Given the description of an element on the screen output the (x, y) to click on. 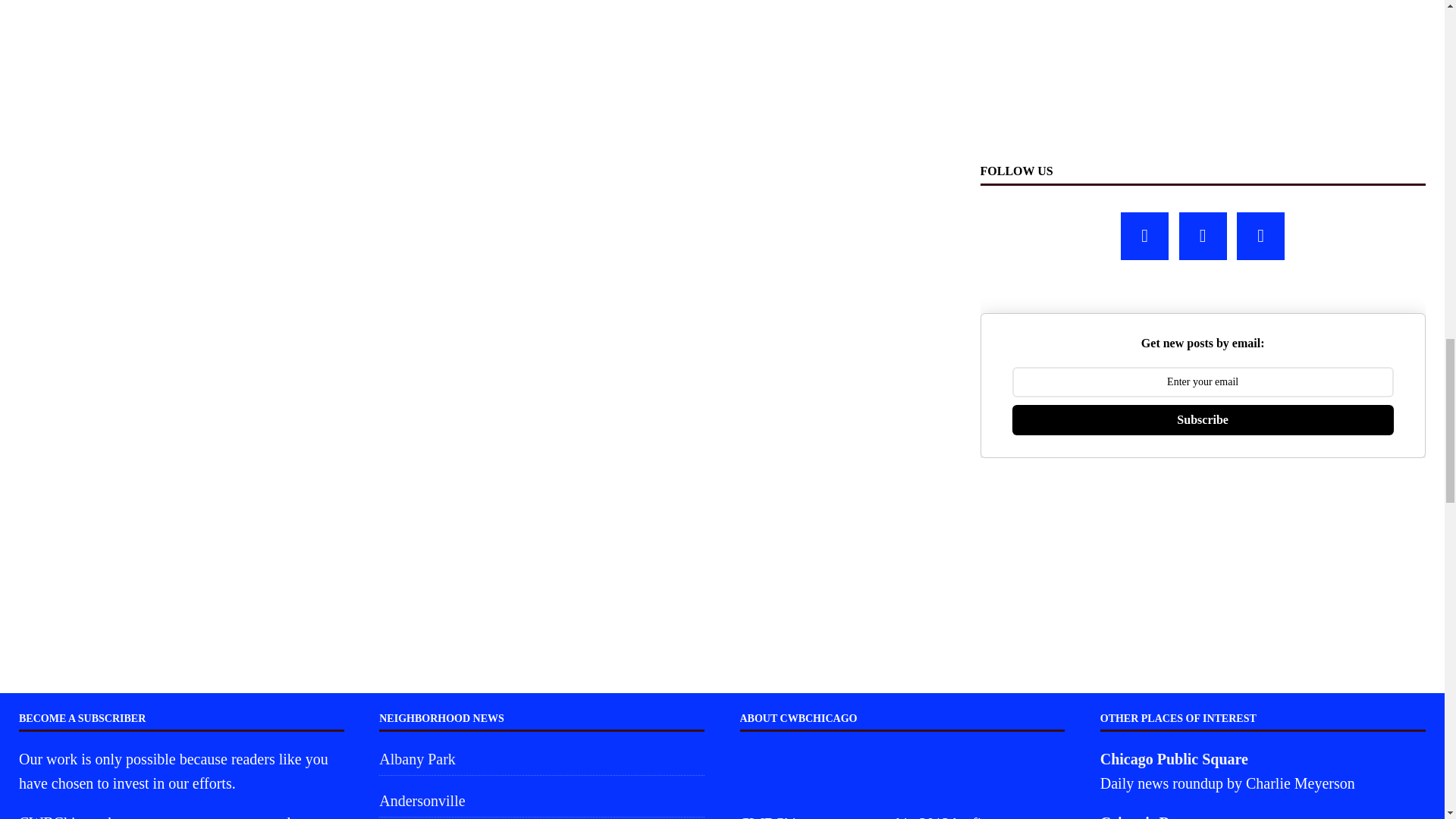
Subscribe (1202, 419)
Albany Park (541, 760)
Andersonville (541, 800)
